Given the description of an element on the screen output the (x, y) to click on. 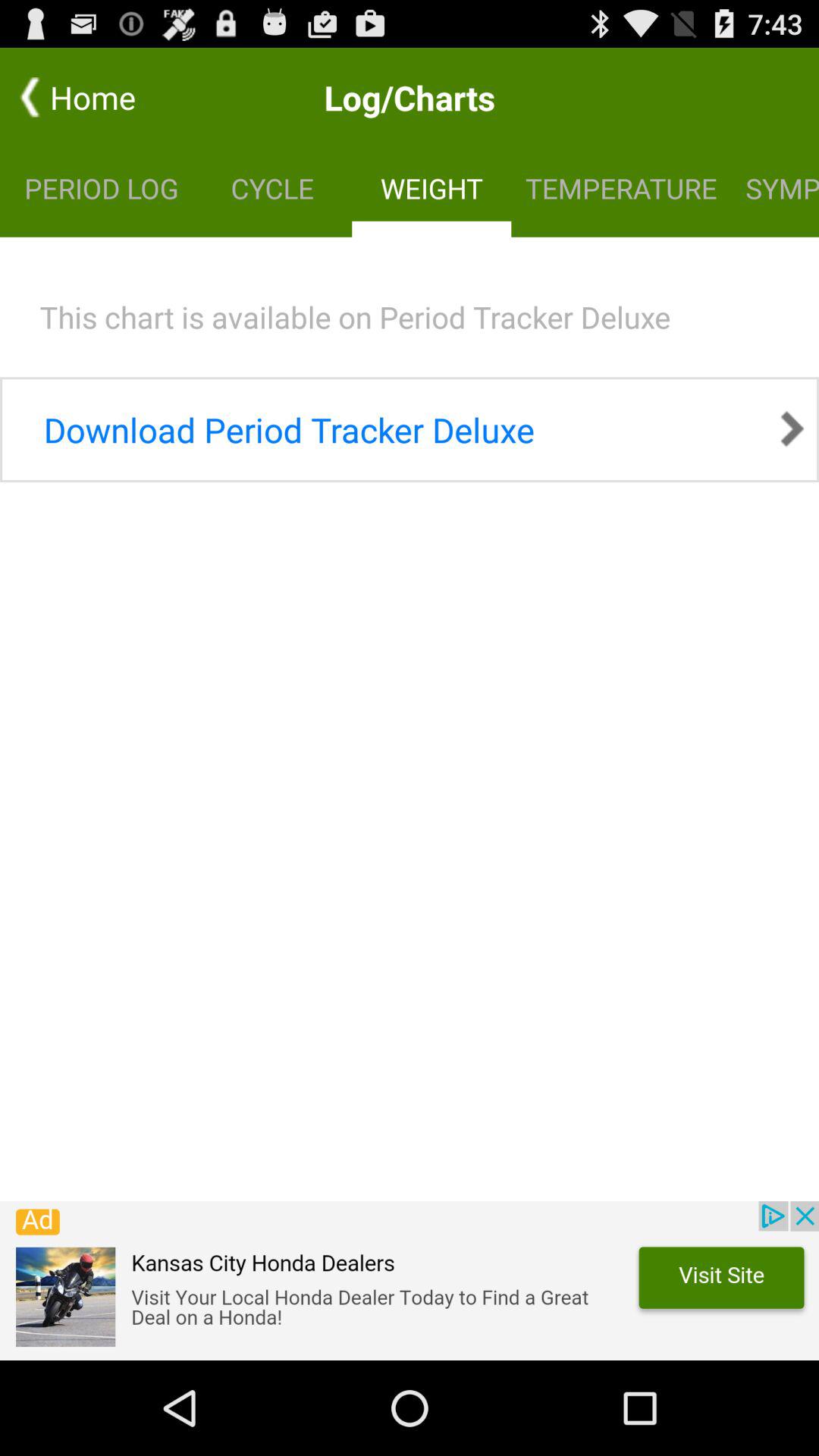
click this advertisement if you want to look up vehicle dealers (409, 1280)
